Given the description of an element on the screen output the (x, y) to click on. 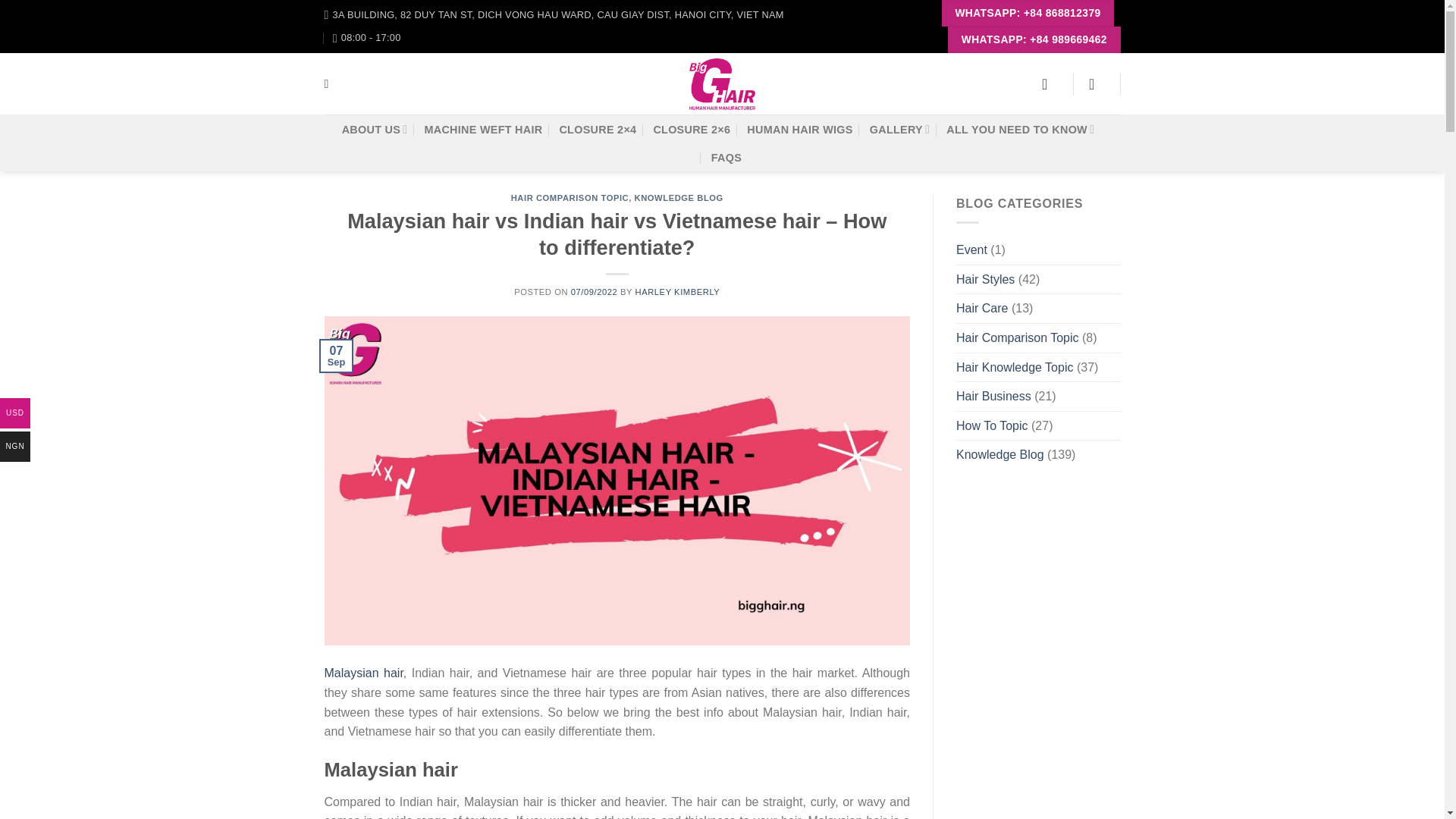
ALL YOU NEED TO KNOW (1020, 129)
HUMAN HAIR WIGS (798, 129)
08:00 - 17:00 (367, 37)
MACHINE WEFT HAIR (482, 129)
ABOUT US (374, 129)
08:00 - 17:00  (367, 37)
GALLERY (899, 129)
